Given the description of an element on the screen output the (x, y) to click on. 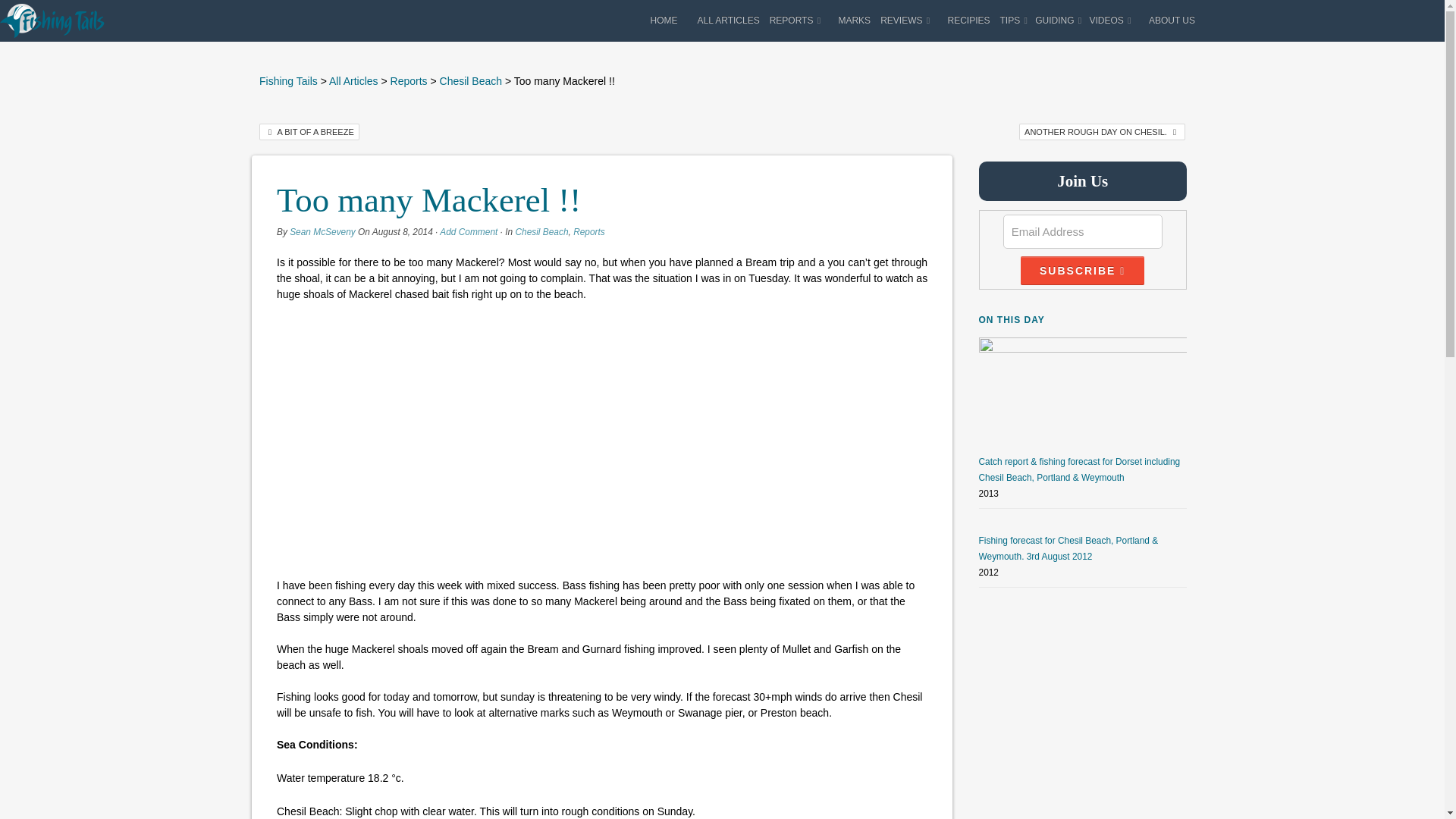
Go to All Articles. (353, 80)
Go to the Chesil Beach category archives. (470, 80)
Go to Fishing Tails. (288, 80)
Go to the Reports category archives. (409, 80)
Posts by Sean McSeveny (322, 231)
HOME (663, 20)
